Given the description of an element on the screen output the (x, y) to click on. 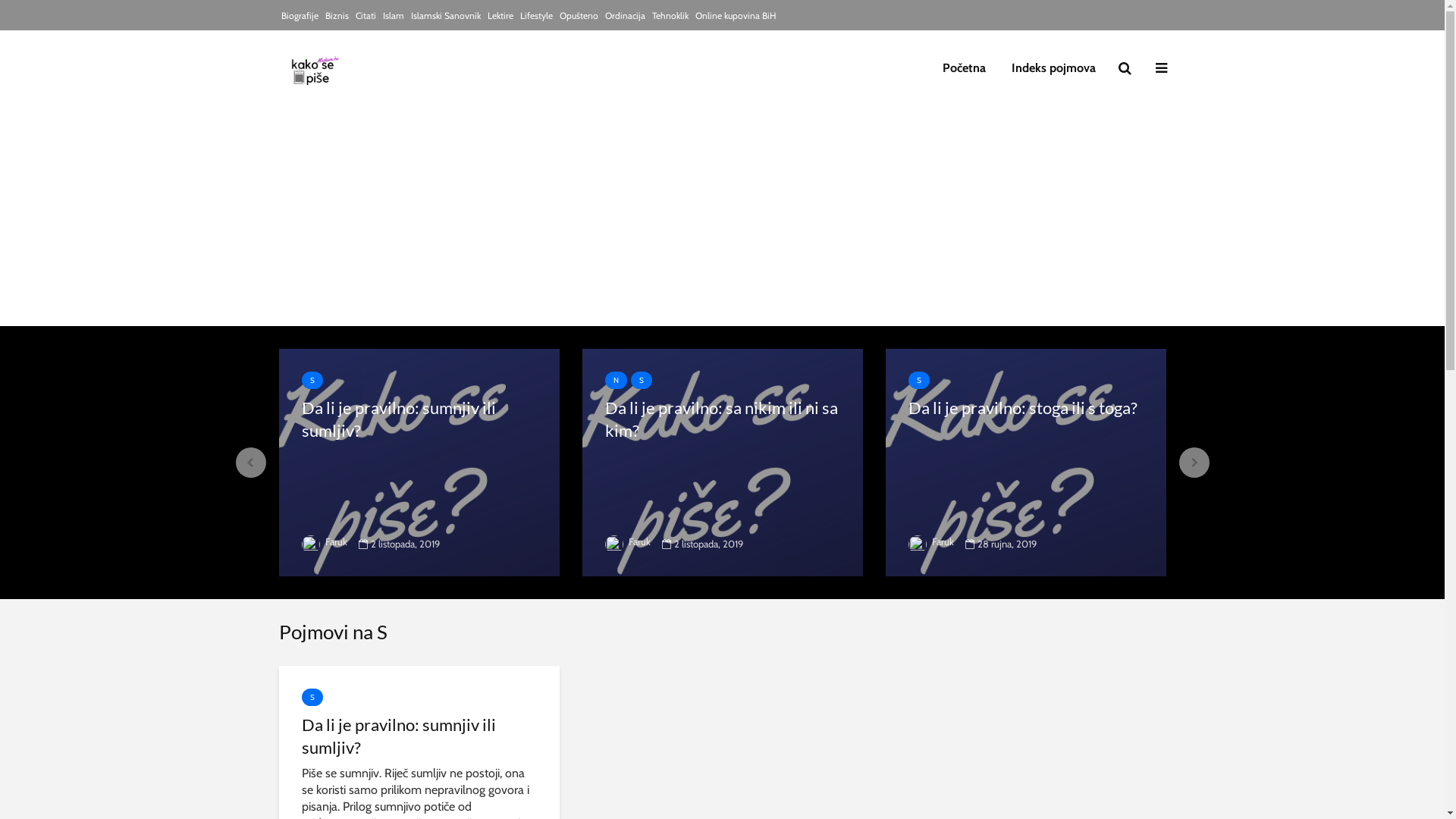
Ordinacija Element type: text (625, 15)
Da li je pravilno: sa nikim ili ni sa kim? Element type: text (722, 419)
Da li je pravilno: sumnjiv ili sumljiv? Element type: hover (419, 461)
S Element type: text (312, 380)
S Element type: text (918, 380)
Indeks pojmova Element type: text (1052, 68)
Lifestyle Element type: text (536, 15)
Biznis Element type: text (336, 15)
Islam Element type: text (392, 15)
Biografije Element type: text (298, 15)
Faruk Element type: text (324, 541)
Da li je pravilno: stoga ili s toga? Element type: text (1025, 407)
Faruk Element type: text (627, 541)
Faruk Element type: text (930, 541)
Islamski Sanovnik Element type: text (445, 15)
Lektire Element type: text (499, 15)
Tehnoklik Element type: text (670, 15)
Advertisement Element type: hover (721, 219)
Online kupovina BiH Element type: text (734, 15)
Da li je pravilno: sumnjiv ili sumljiv? Element type: text (418, 419)
Da li je pravilno: stoga ili s toga? Element type: hover (1025, 461)
S Element type: text (641, 380)
Da li je pravilno: sa nikim ili ni sa kim? Element type: hover (722, 461)
N Element type: text (616, 380)
S Element type: text (312, 697)
Citati Element type: text (364, 15)
Da li je pravilno: sumnjiv ili sumljiv? Element type: text (418, 736)
